Given the description of an element on the screen output the (x, y) to click on. 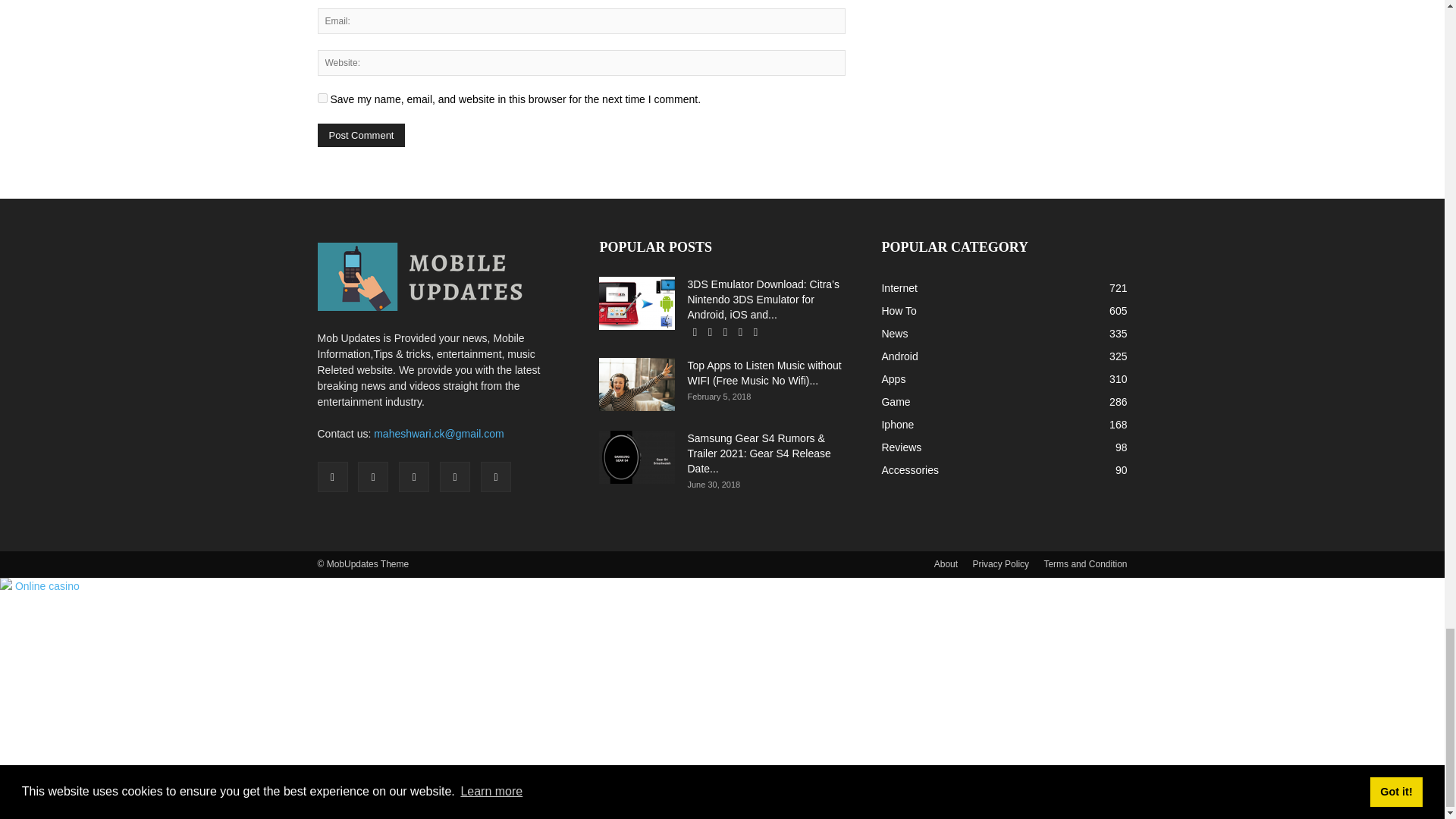
Post Comment (360, 135)
yes (321, 98)
